Given the description of an element on the screen output the (x, y) to click on. 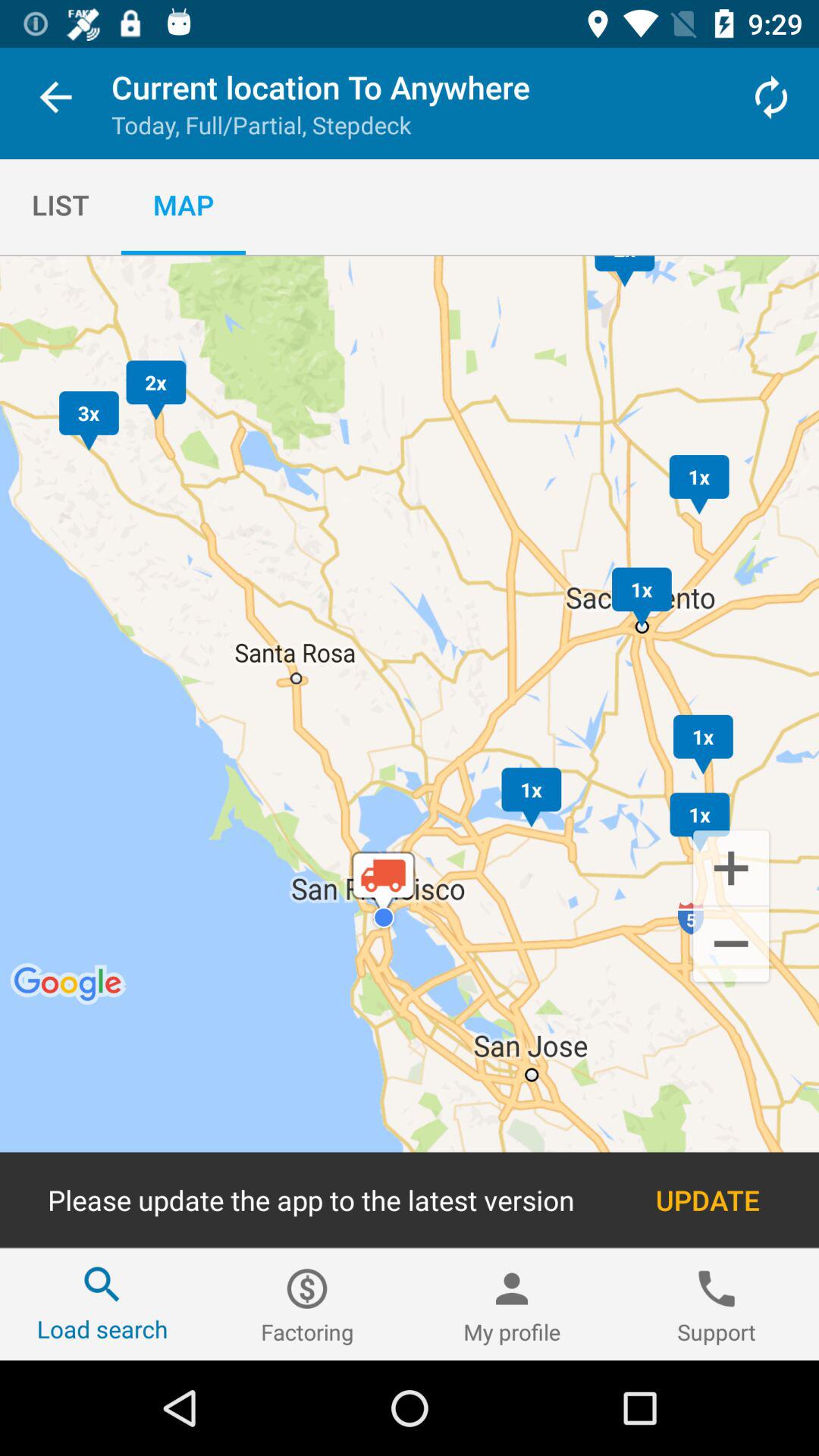
turn on the item to the right of the my profile icon (716, 1304)
